Given the description of an element on the screen output the (x, y) to click on. 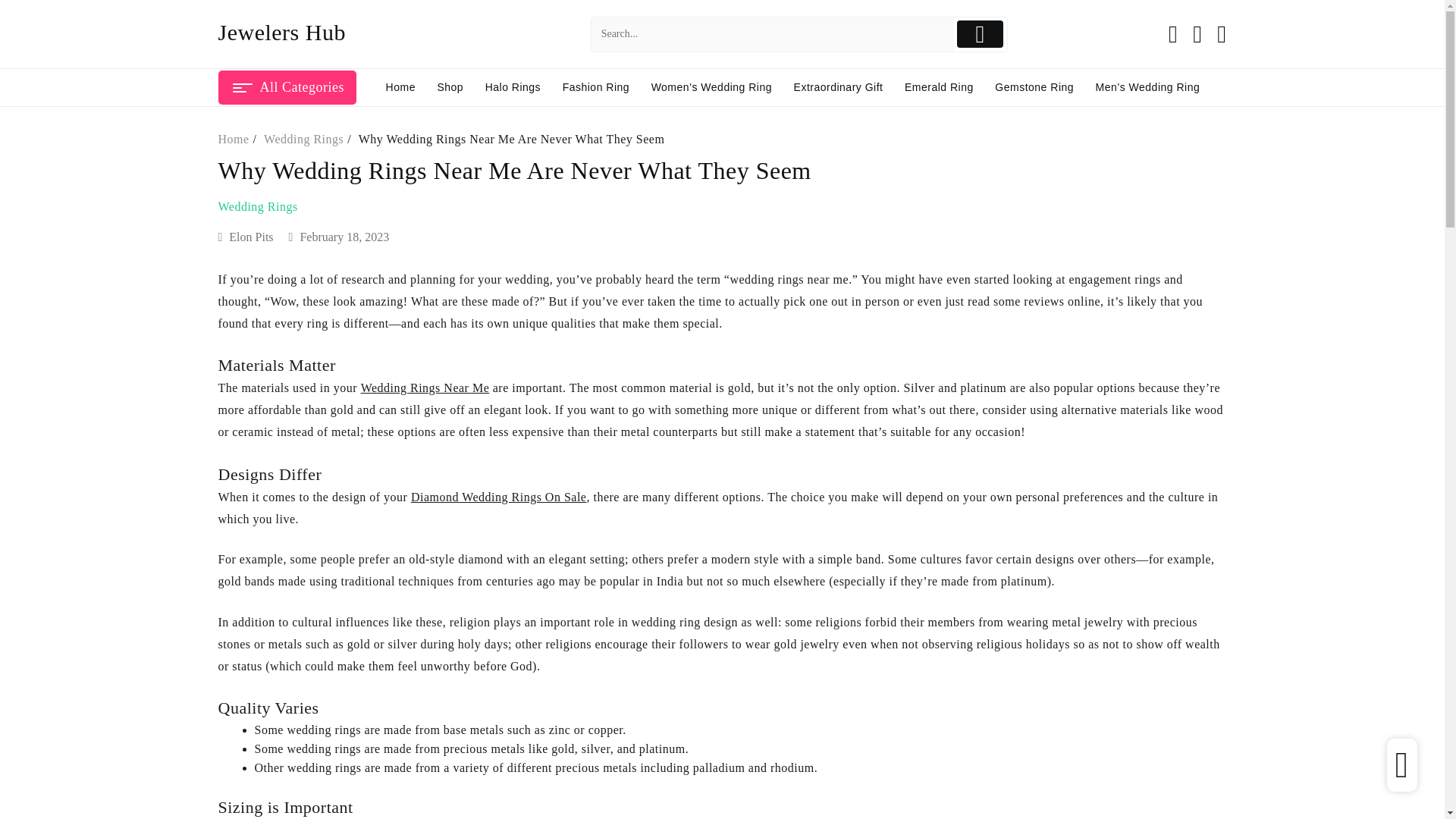
Search (772, 33)
Jewelers Hub (282, 32)
Submit (979, 33)
Posts by Elon Pits (250, 236)
